Given the description of an element on the screen output the (x, y) to click on. 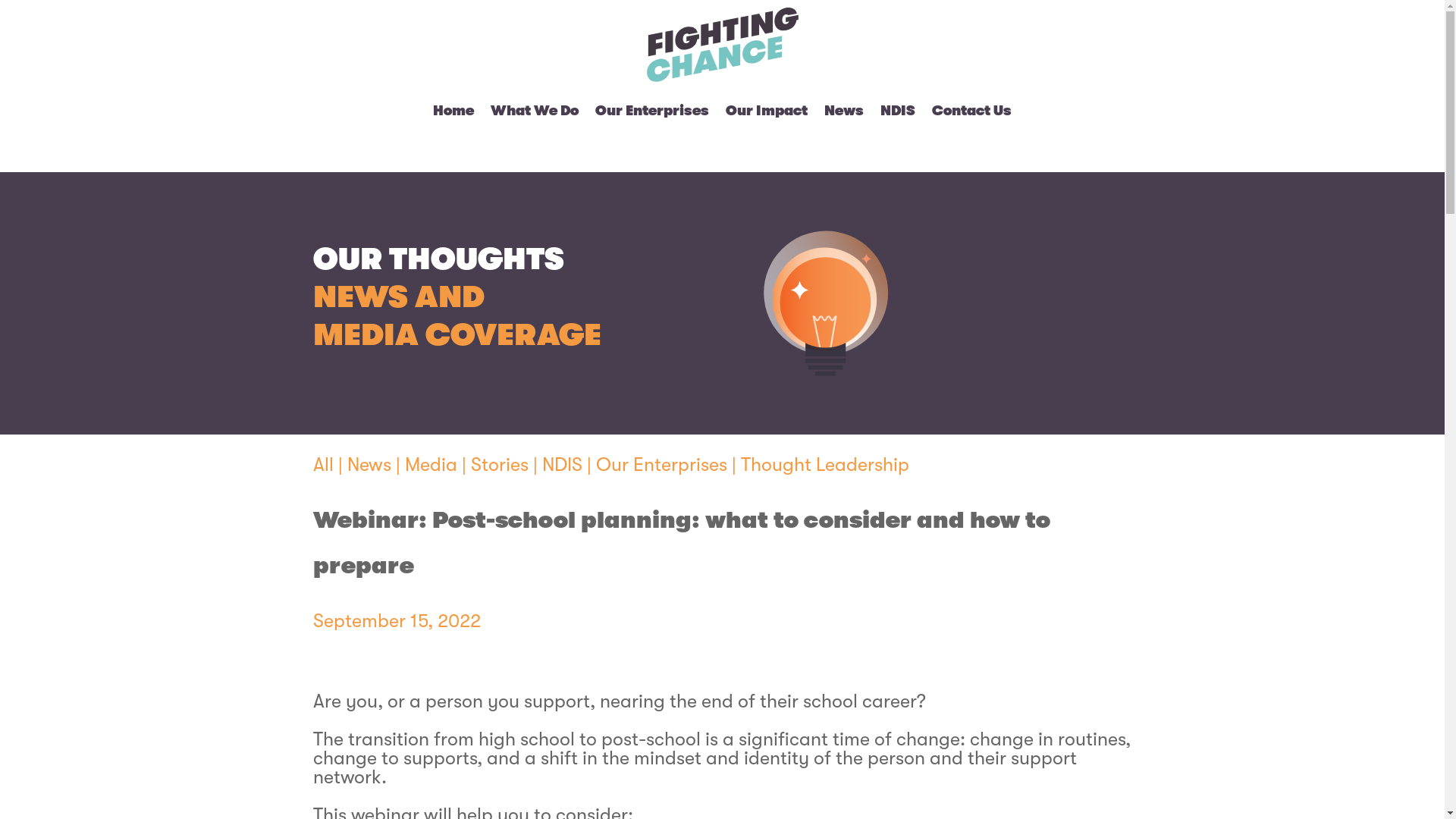
Thought Leadership Element type: text (824, 464)
Contact Us Element type: text (971, 110)
News Element type: text (369, 464)
Home Element type: text (453, 110)
NDIS Element type: text (561, 464)
NDIS Element type: text (897, 110)
What We Do Element type: text (534, 110)
Skip to content Element type: text (0, 0)
News Element type: text (843, 110)
Our Enterprises Element type: text (652, 110)
Media Element type: text (430, 464)
Our Enterprises Element type: text (661, 464)
Stories Element type: text (498, 464)
All Element type: text (322, 464)
Our Impact Element type: text (766, 110)
